Given the description of an element on the screen output the (x, y) to click on. 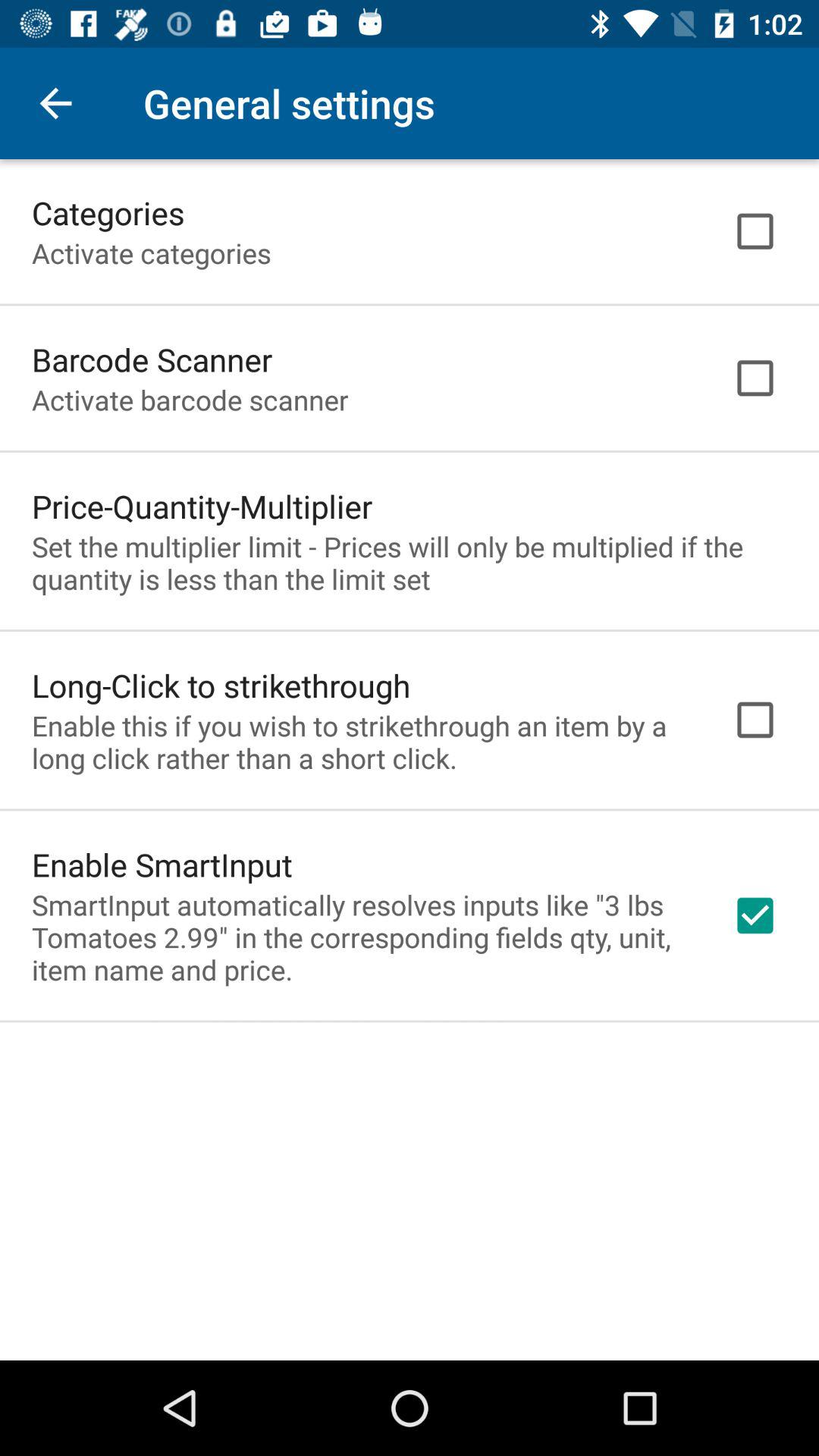
turn on item below the price-quantity-multiplier item (409, 562)
